Given the description of an element on the screen output the (x, y) to click on. 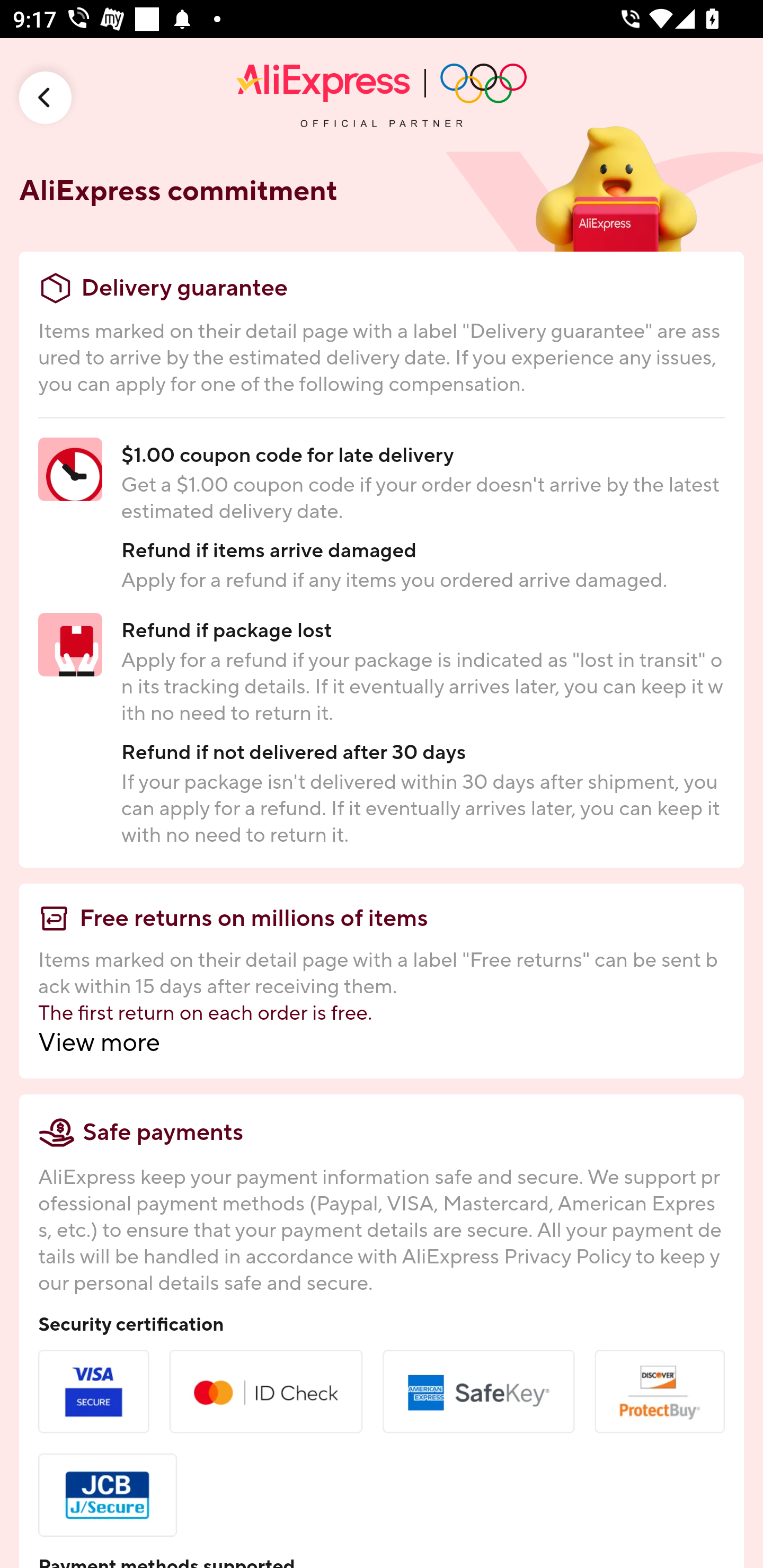
96x96 (45, 96)
View more (381, 1043)
